Given the description of an element on the screen output the (x, y) to click on. 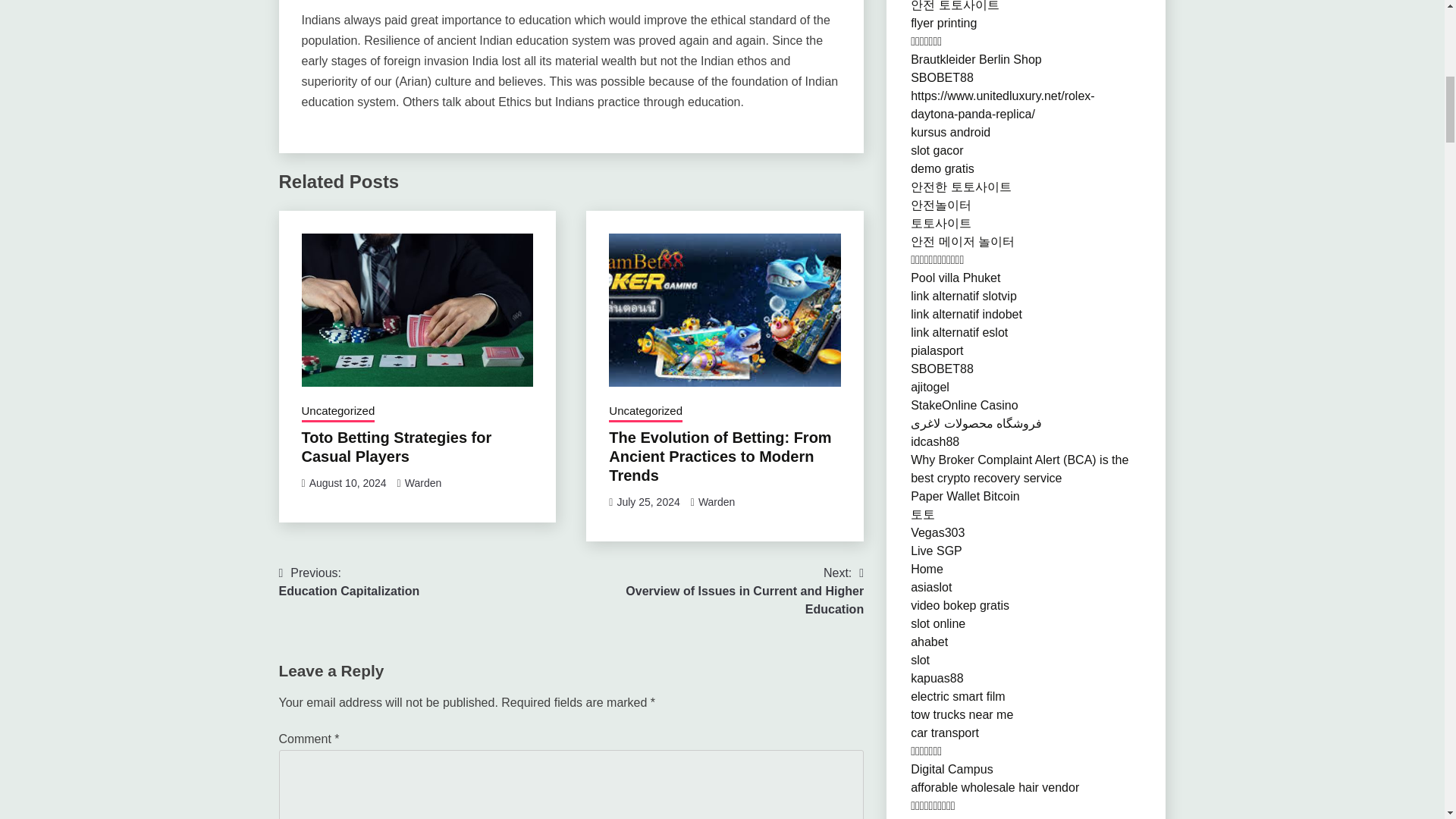
Uncategorized (645, 412)
Uncategorized (349, 582)
Toto Betting Strategies for Casual Players (338, 412)
Warden (716, 591)
August 10, 2024 (396, 447)
July 25, 2024 (423, 482)
Warden (347, 482)
